Given the description of an element on the screen output the (x, y) to click on. 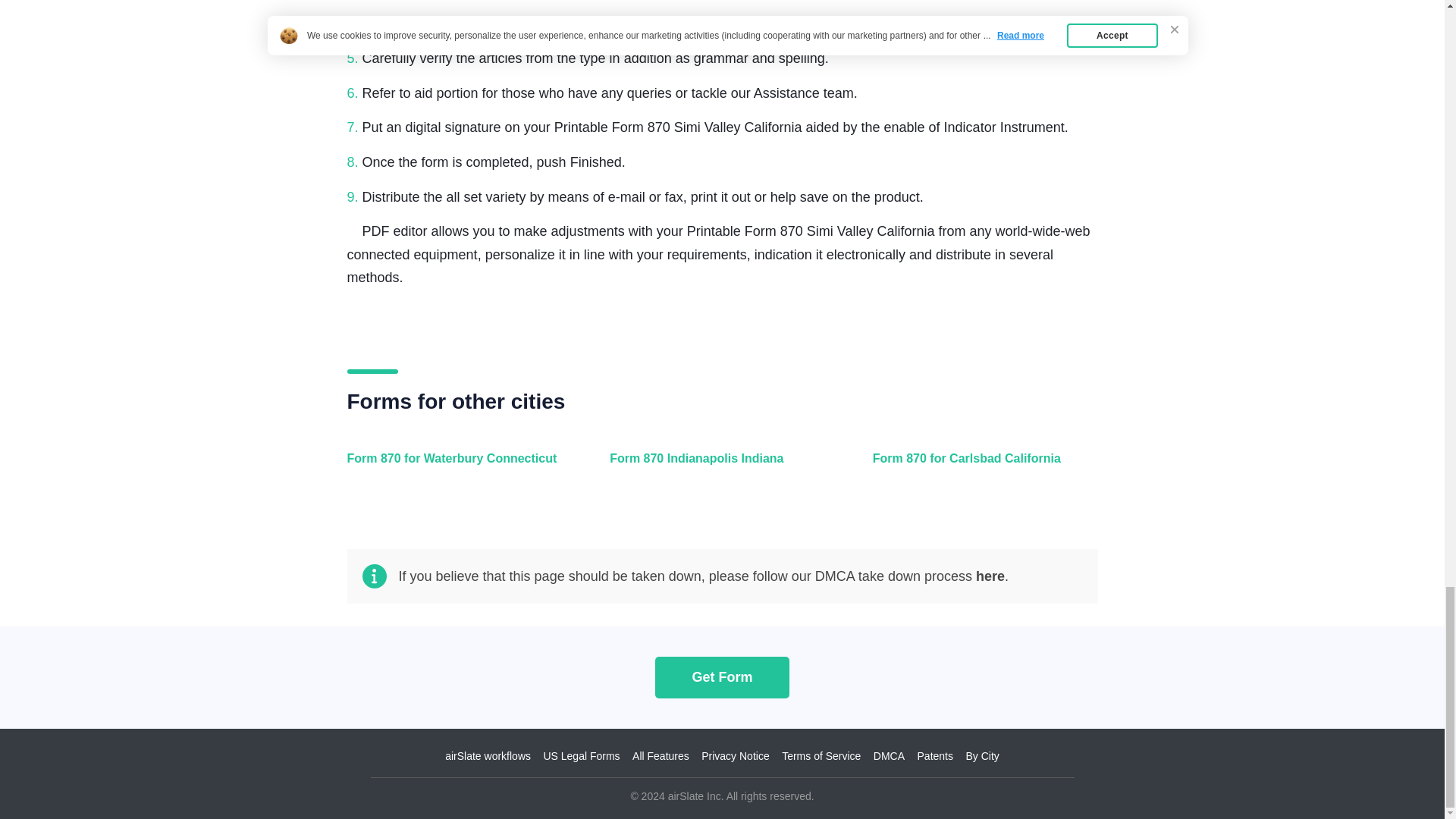
airSlate workflows (488, 756)
Patents (935, 756)
here (989, 575)
Form 870 for Carlsbad California (981, 466)
Form 870 Indianapolis Indiana (718, 466)
Privacy Notice (734, 756)
DMCA (888, 756)
US Legal Forms (581, 756)
Get Form (722, 676)
By City (981, 756)
